Given the description of an element on the screen output the (x, y) to click on. 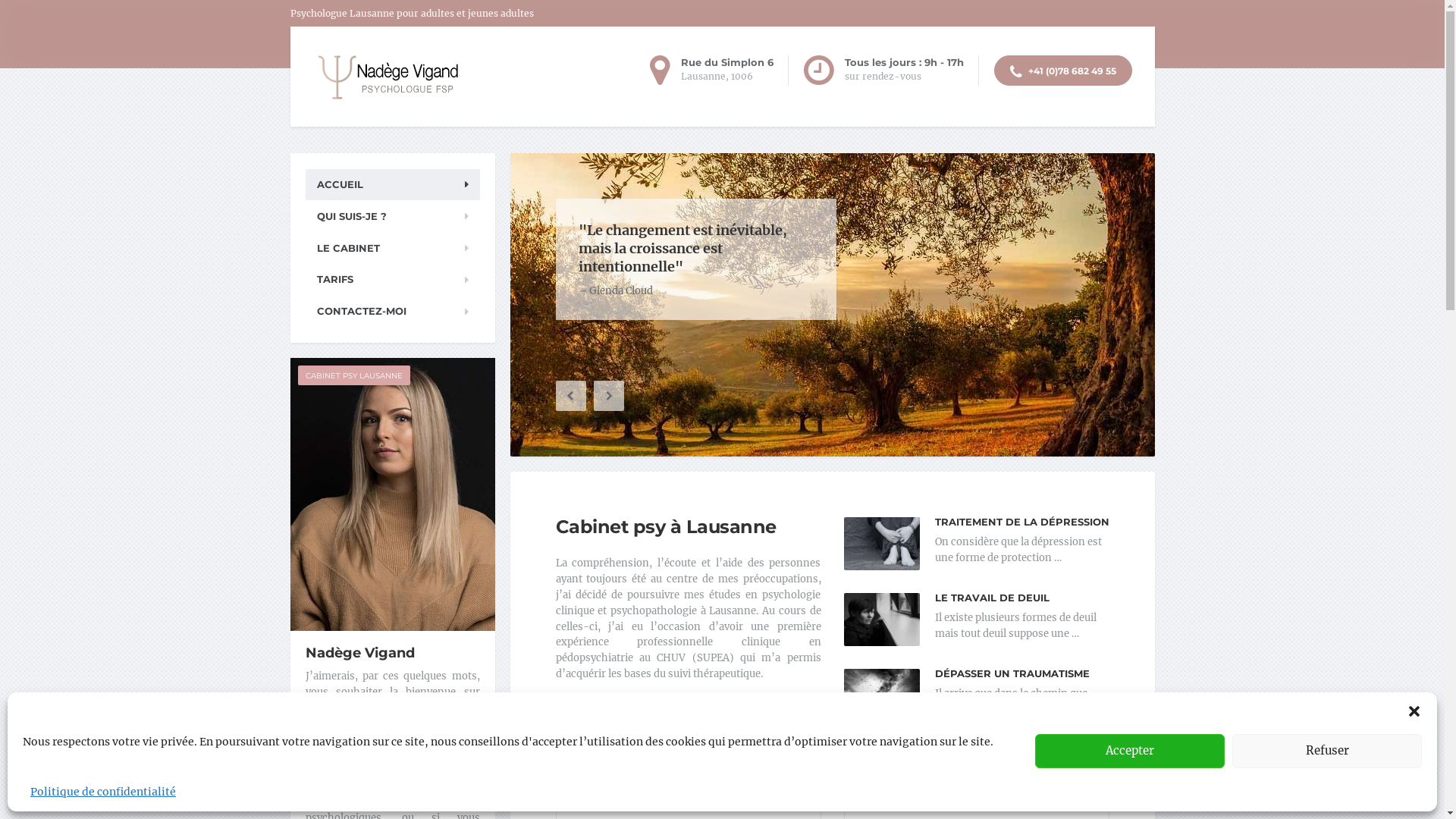
Accepter Element type: text (1129, 751)
LE TRAVAIL DE DEUIL Element type: text (991, 597)
ACCUEIL Element type: text (391, 184)
LIRE LA SUITE Element type: text (591, 705)
TARIFS Element type: text (391, 278)
QUI SUIS-JE ? Element type: text (391, 216)
LE CABINET Element type: text (391, 247)
+41 (0)78 682 49 55 Element type: text (1062, 70)
CONTACTEZ-MOI Element type: text (391, 310)
Refuser Element type: text (1326, 751)
